Given the description of an element on the screen output the (x, y) to click on. 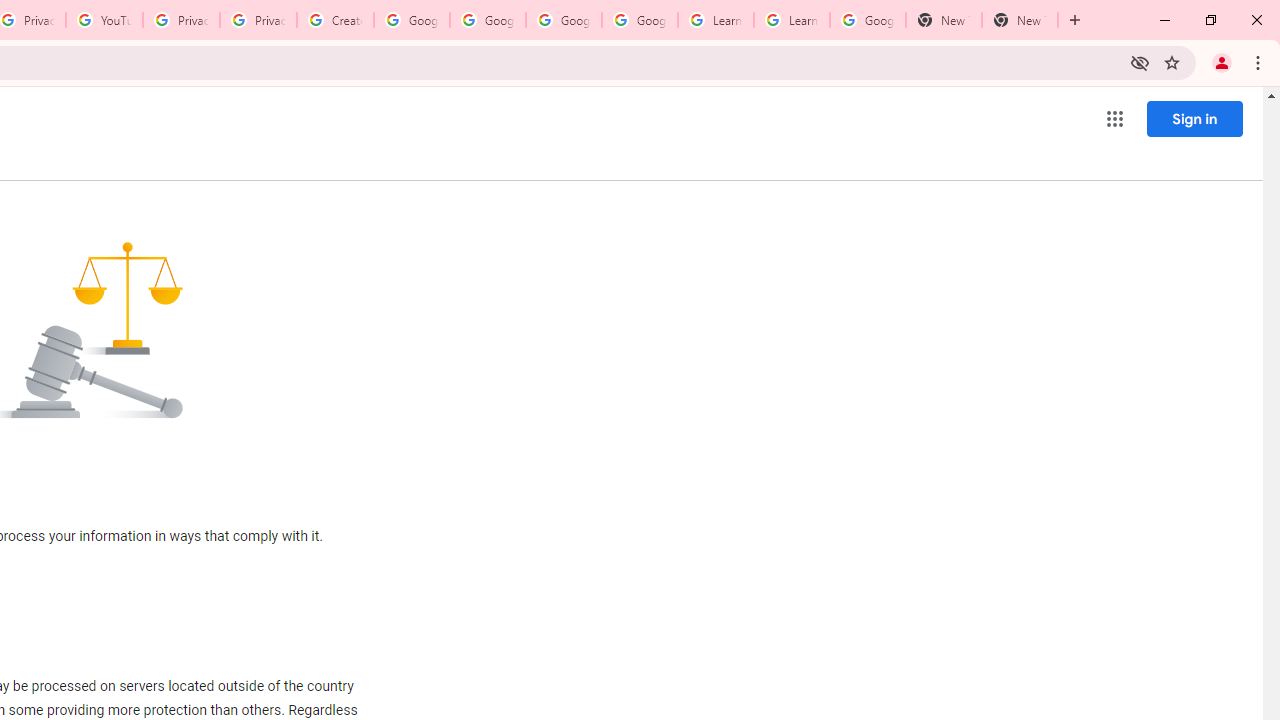
Google Account Help (563, 20)
Create your Google Account (335, 20)
Google Account Help (411, 20)
